Given the description of an element on the screen output the (x, y) to click on. 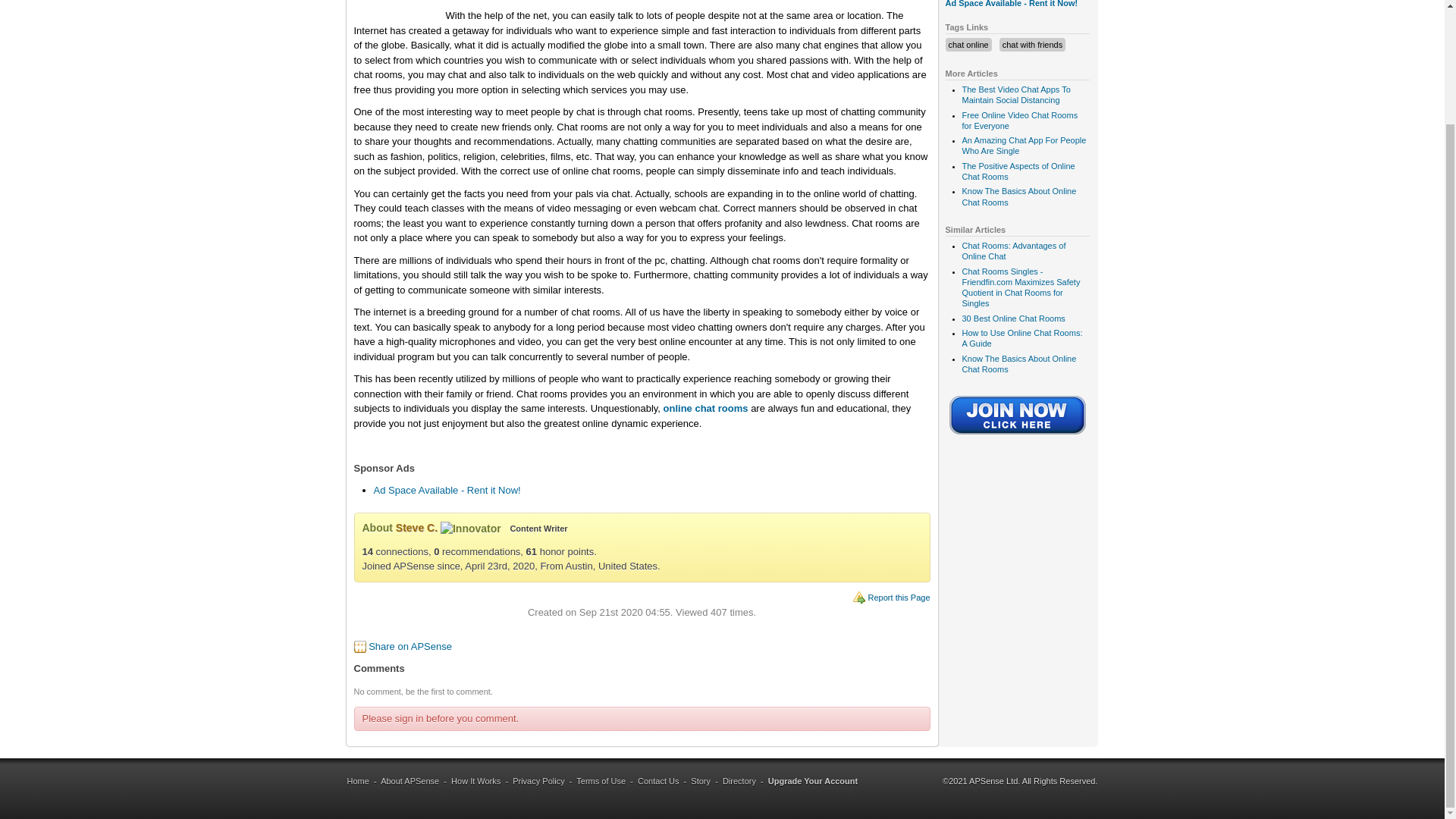
Ad Space Available - Rent it Now! (445, 490)
An Amazing Chat App For People Who Are Single (1023, 145)
The Best Video Chat Apps To Maintain Social Distancing (1015, 94)
Innovator (470, 529)
30 Best Online Chat Rooms (1012, 317)
Report this Page (898, 596)
online chat rooms (705, 408)
Share on APSense (409, 645)
Know The Basics About Online Chat Rooms (1017, 363)
The Positive Aspects of Online Chat Rooms (1017, 170)
Know The Basics About Online Chat Rooms (1017, 196)
chat online (967, 44)
Know The Basics About Online Chat Rooms (1017, 196)
Free Online Video Chat Rooms for Everyone (1018, 120)
Chat Rooms: Advantages of Online Chat (1012, 250)
